Given the description of an element on the screen output the (x, y) to click on. 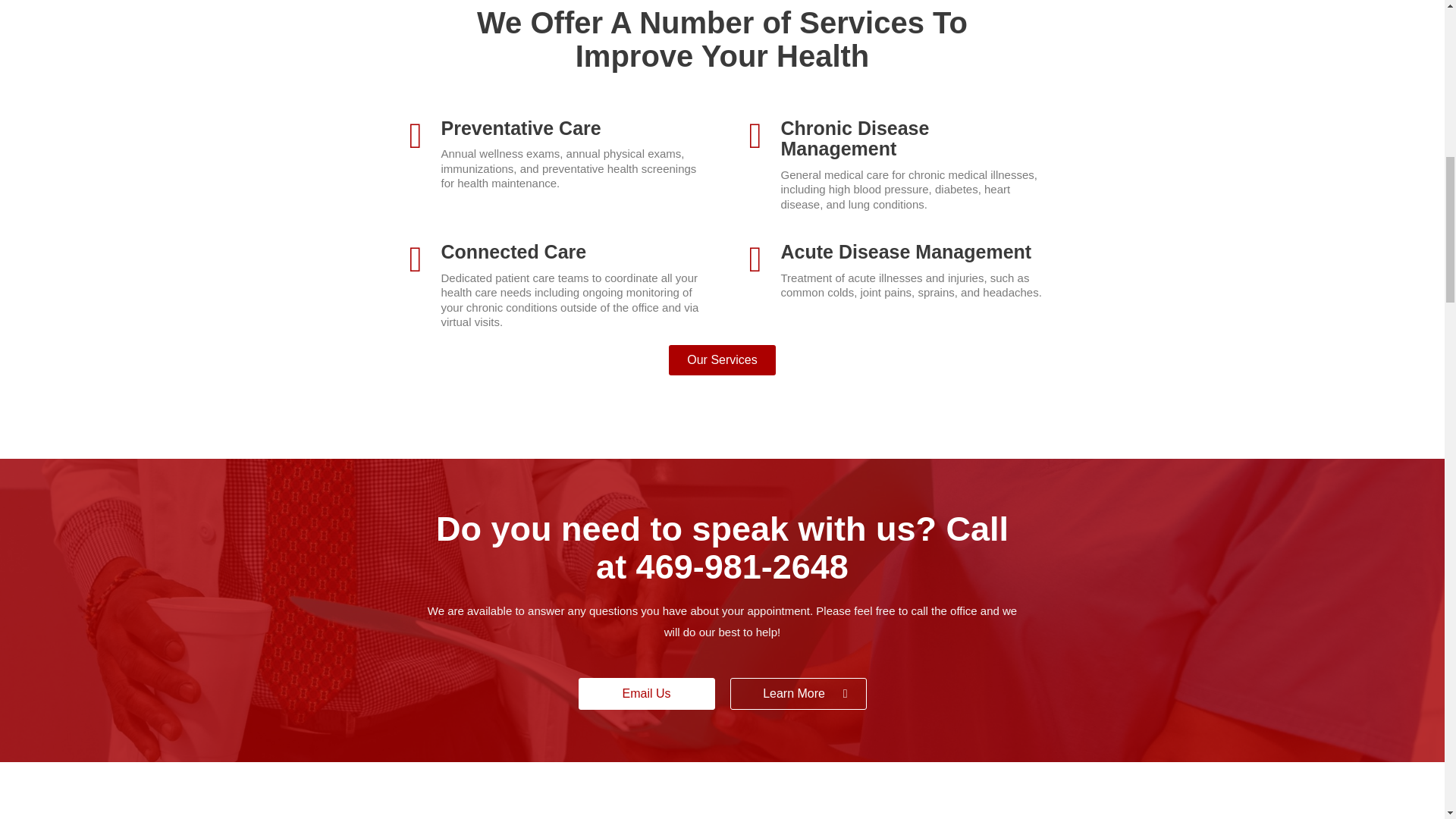
Email Us (646, 694)
Our Services (721, 359)
Learn More (797, 694)
